Given the description of an element on the screen output the (x, y) to click on. 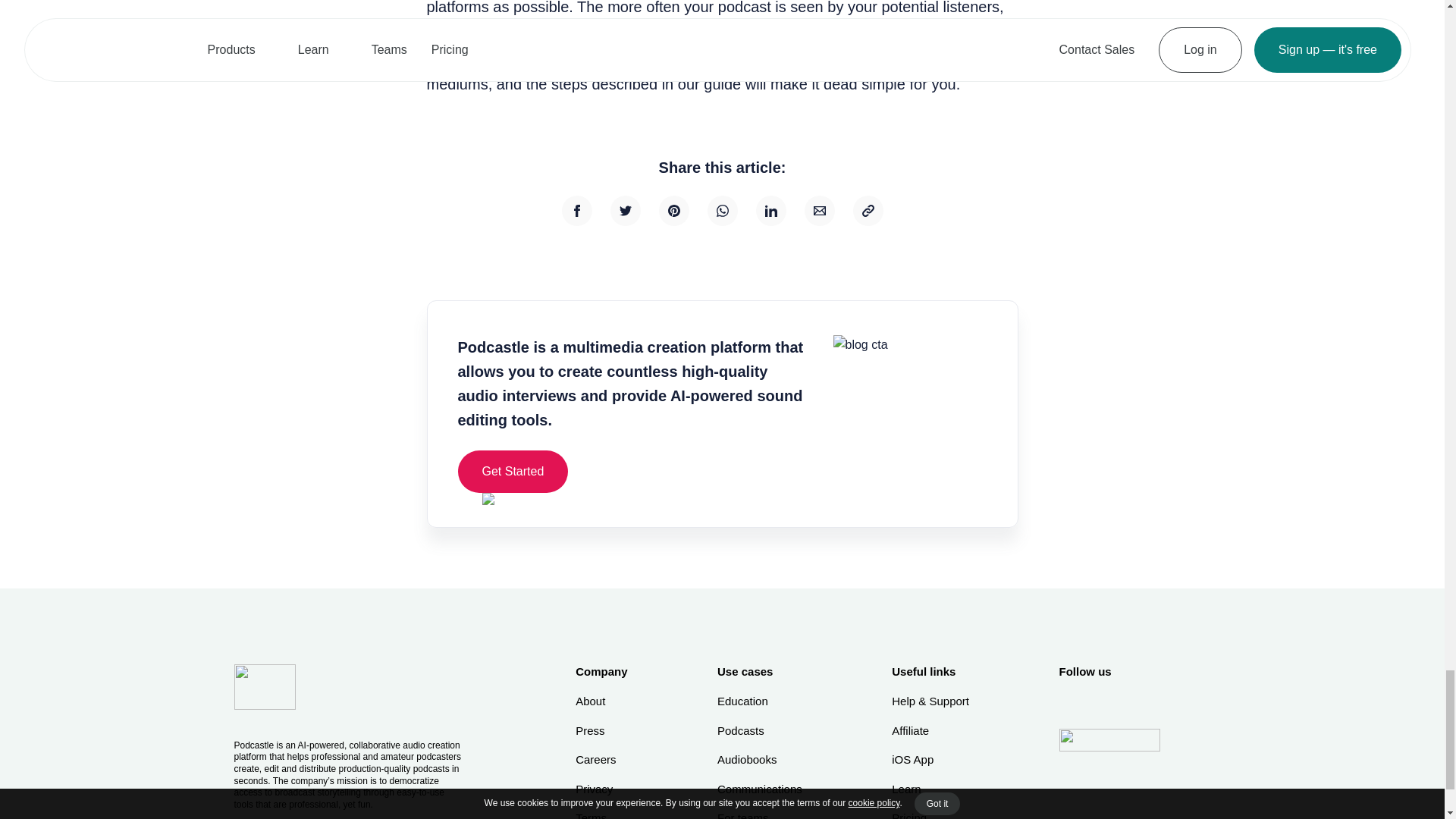
Get Started (513, 471)
Careers (601, 759)
Share on Pinterest (673, 210)
Share on Whatsapp (721, 210)
Press (601, 731)
Share on Twitter (625, 210)
Send via email (818, 210)
About (601, 701)
Communications (759, 789)
Copy the permalink (866, 210)
Share on Facebook (575, 210)
Audiobooks (759, 759)
Education (759, 701)
Share on Linkedin (770, 210)
Podcasts (759, 731)
